Given the description of an element on the screen output the (x, y) to click on. 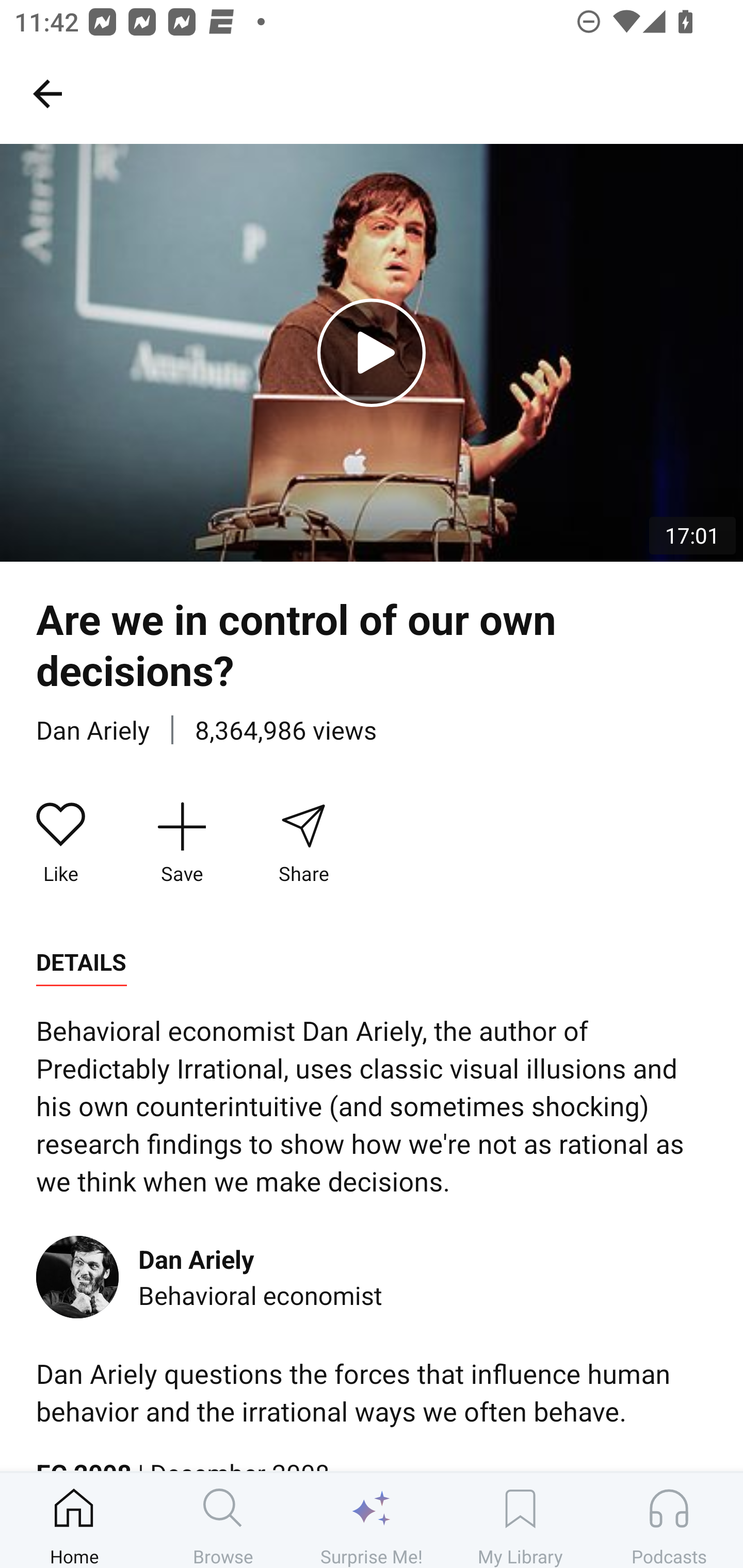
Home, back (47, 92)
Like (60, 843)
Save (181, 843)
Share (302, 843)
DETAILS (80, 962)
Home (74, 1520)
Browse (222, 1520)
Surprise Me! (371, 1520)
My Library (519, 1520)
Podcasts (668, 1520)
